Given the description of an element on the screen output the (x, y) to click on. 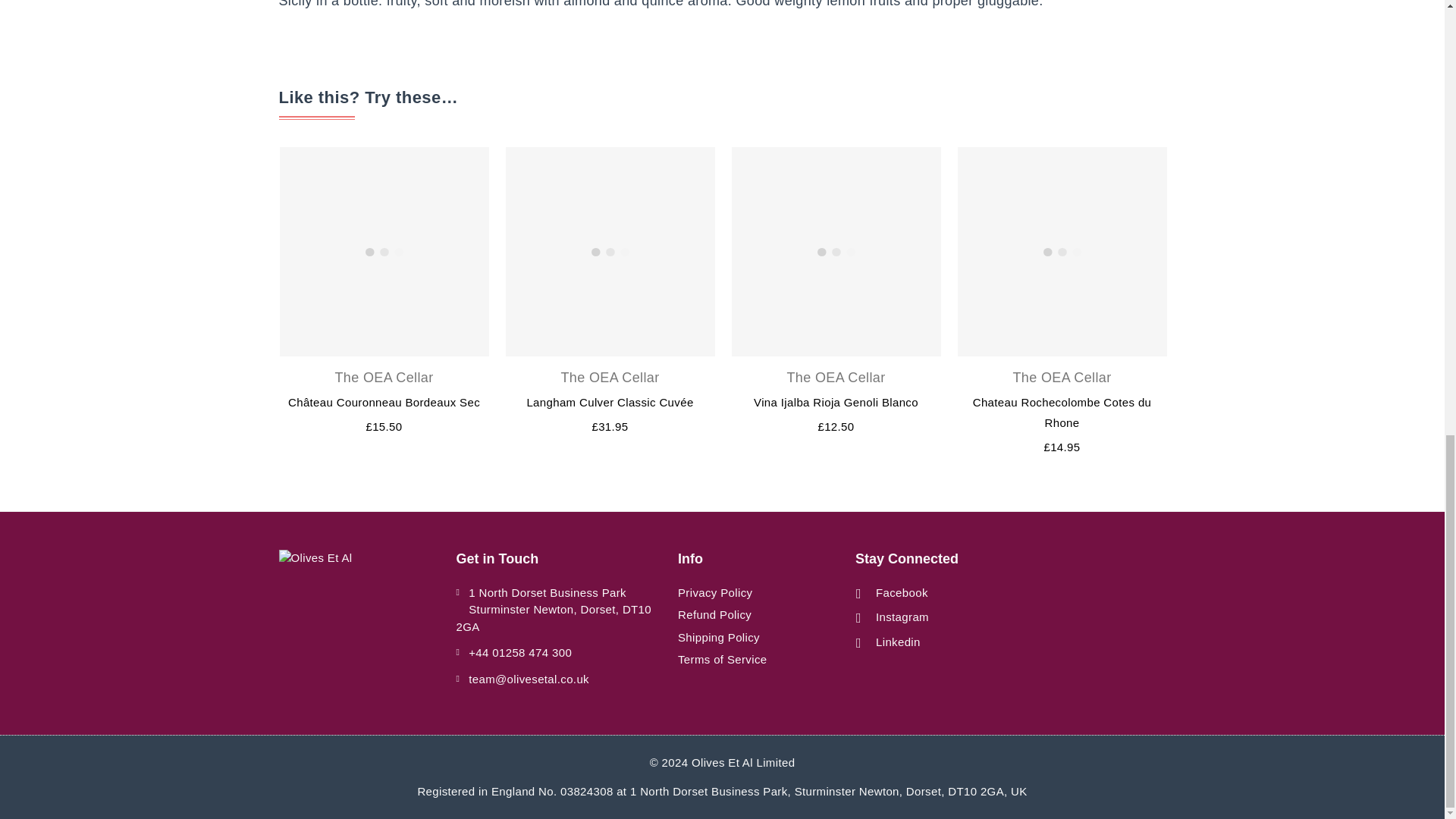
Olives Et Al on Facebook (891, 592)
Olives Et Al on Instagram (892, 617)
Olives Et Al on Linkedin (888, 642)
